Given the description of an element on the screen output the (x, y) to click on. 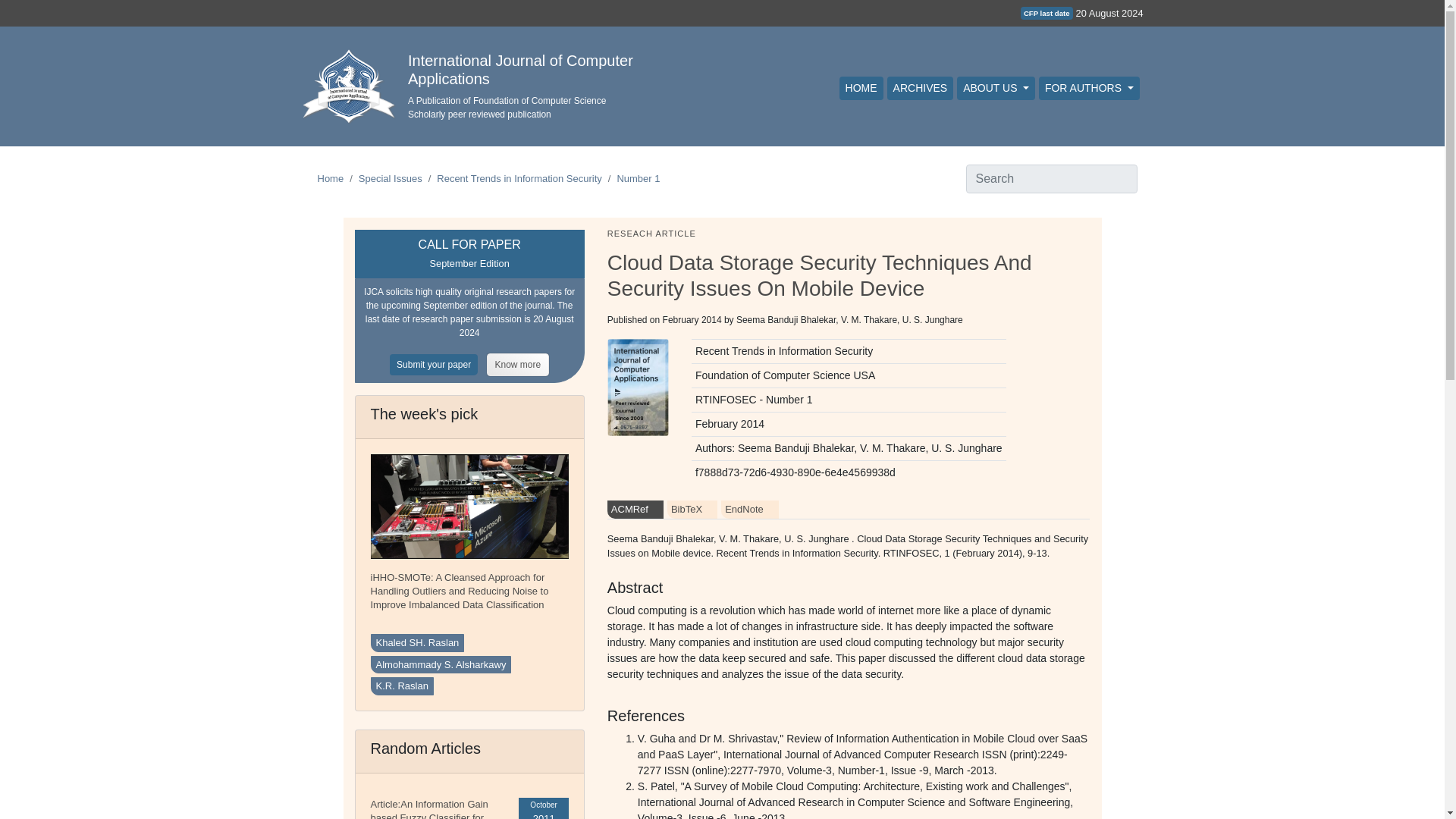
Almohammady S. Alsharkawy (440, 665)
BibTeX (691, 509)
Know more (518, 363)
Special Issues (390, 178)
ACMRef (635, 509)
FOR AUTHORS (1089, 87)
Submit your paper (438, 363)
ABOUT US (995, 87)
